Given the description of an element on the screen output the (x, y) to click on. 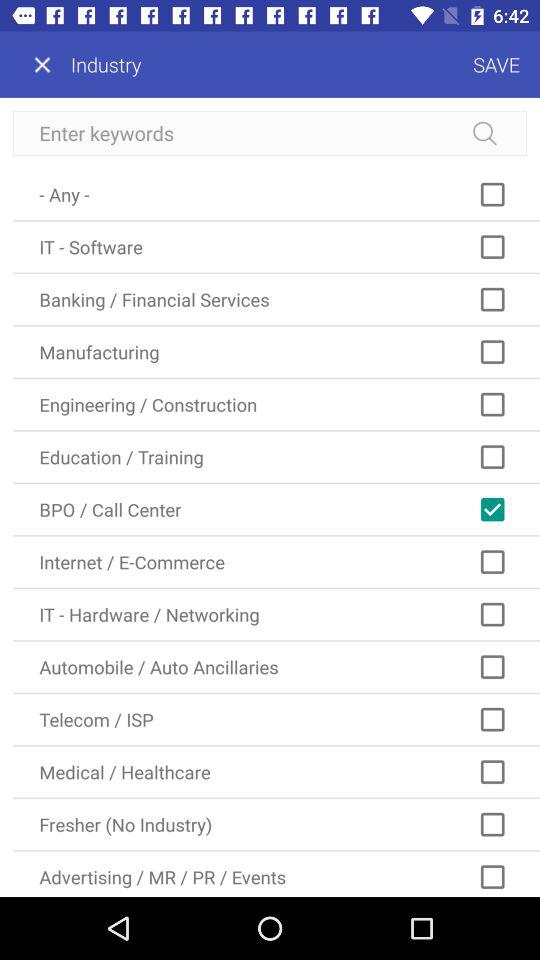
turn off education / training icon (276, 456)
